Given the description of an element on the screen output the (x, y) to click on. 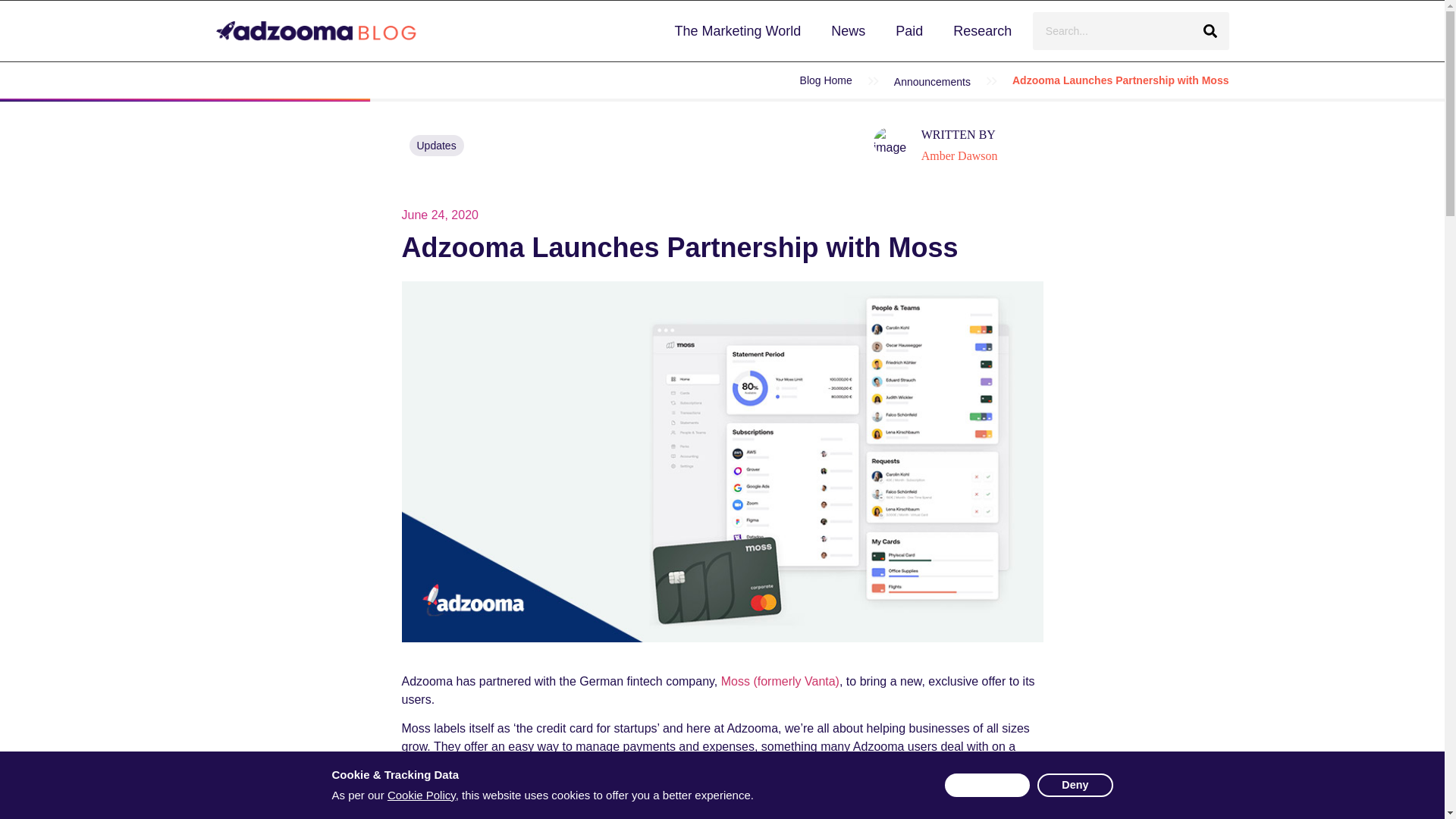
Deny (1074, 784)
Research (981, 31)
Updates (436, 145)
Accept (986, 784)
Paid (909, 31)
Cookie Policy (421, 794)
The Marketing World (737, 31)
Announcements (932, 81)
Amber Dawson (960, 155)
News (848, 31)
